Given the description of an element on the screen output the (x, y) to click on. 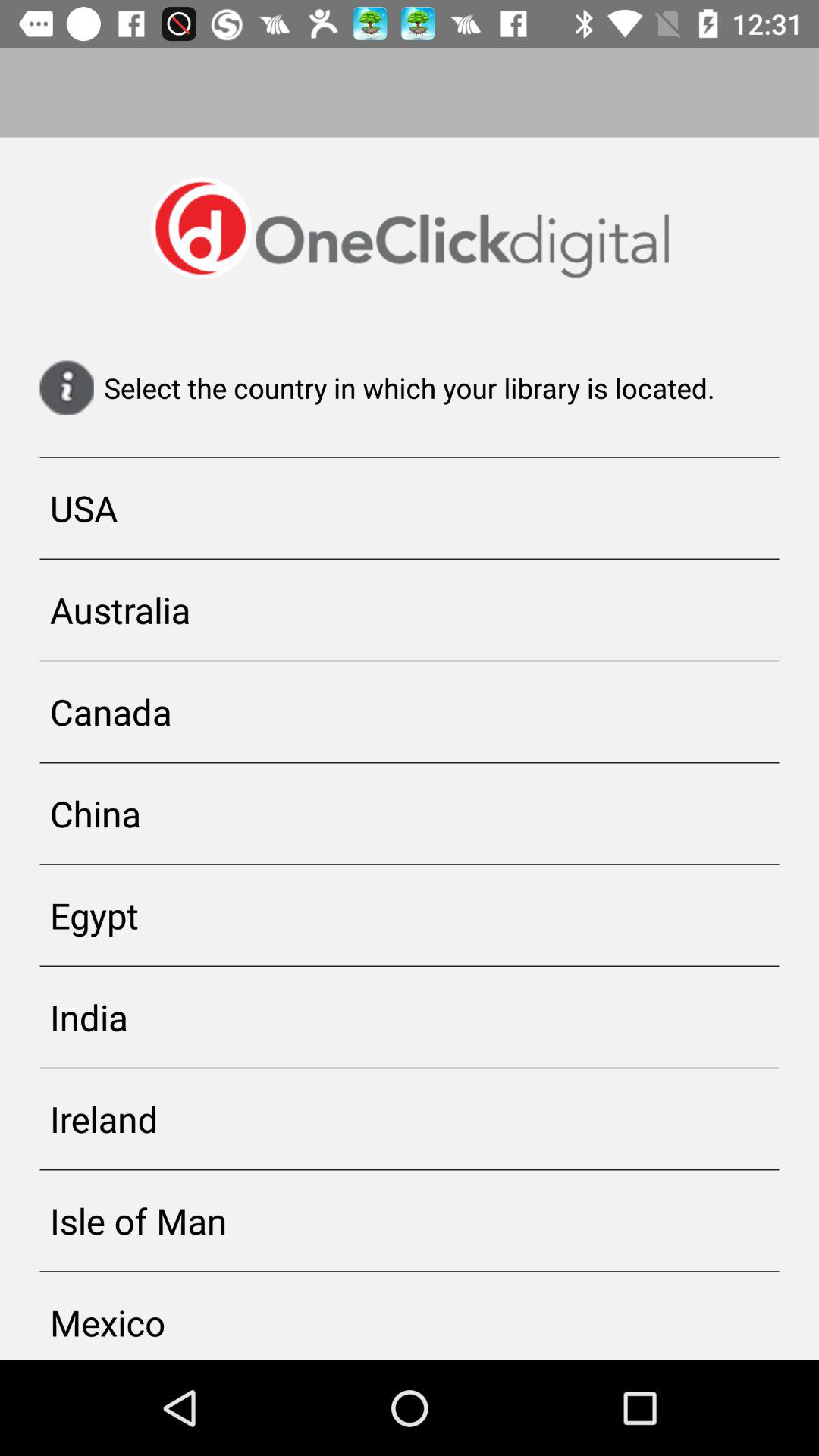
select mexico (409, 1316)
